Given the description of an element on the screen output the (x, y) to click on. 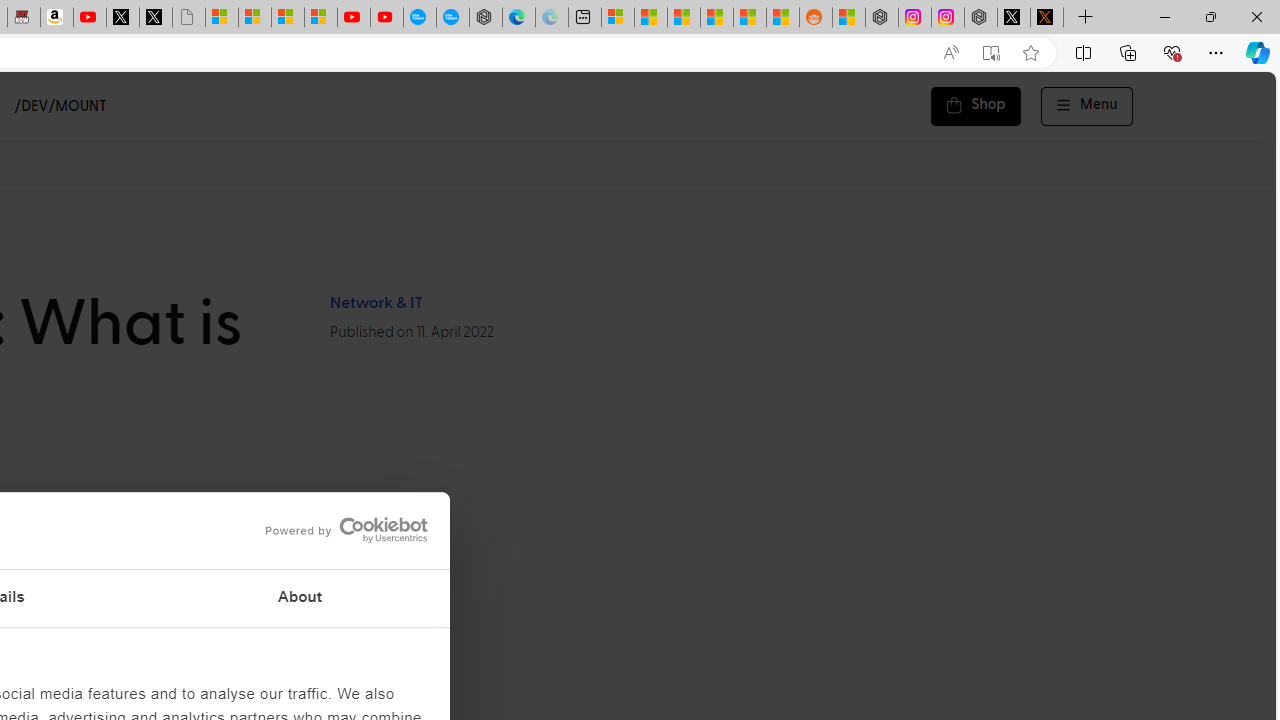
Day 1: Arriving in Yemen (surreal to be here) - YouTube (90, 17)
Microsoft account | Microsoft Account Privacy Settings (617, 17)
Nordace (@NordaceOfficial) / X (1014, 17)
Menu Off-Canvas (1087, 106)
